Given the description of an element on the screen output the (x, y) to click on. 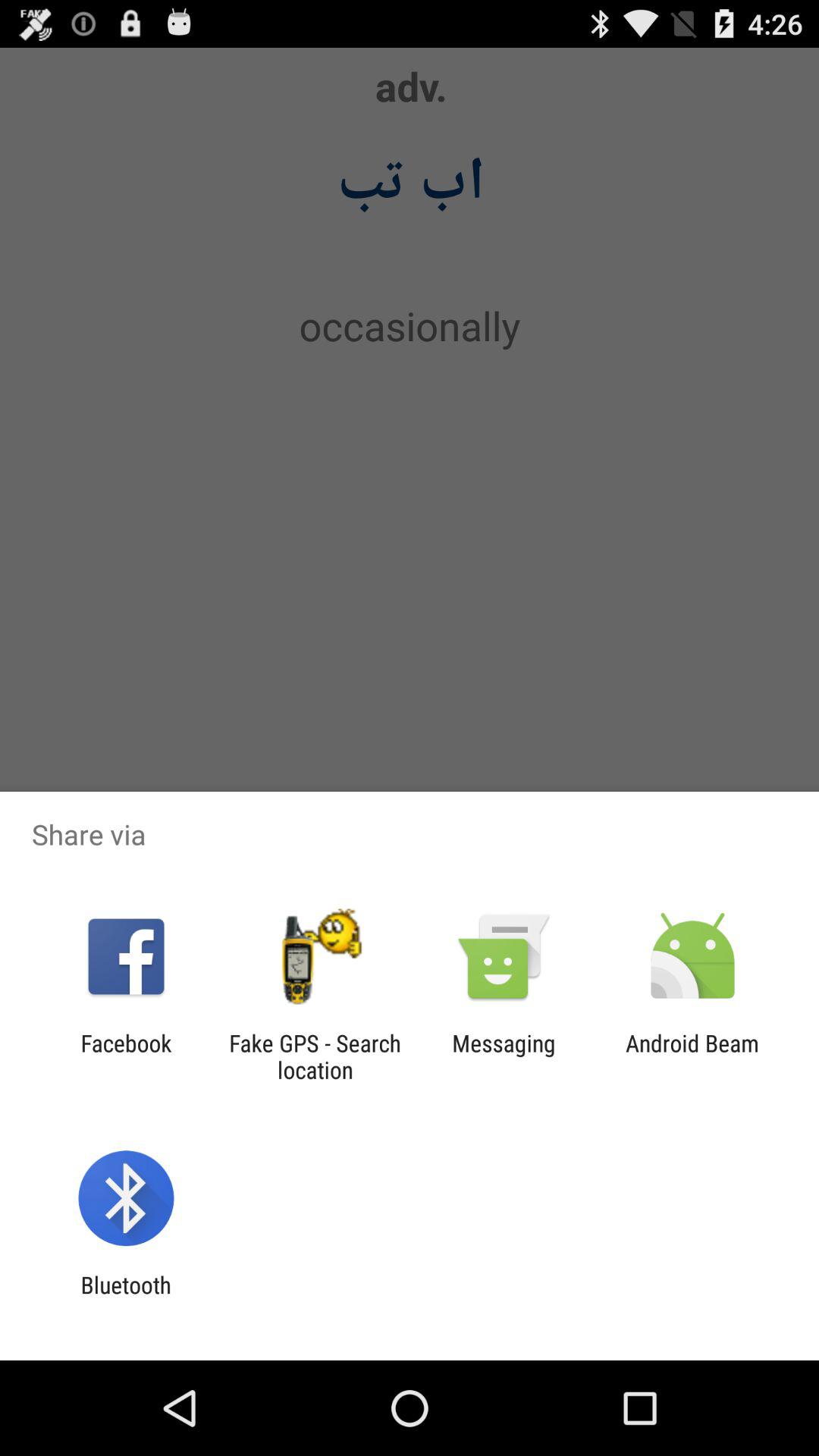
select the app next to android beam (503, 1056)
